Given the description of an element on the screen output the (x, y) to click on. 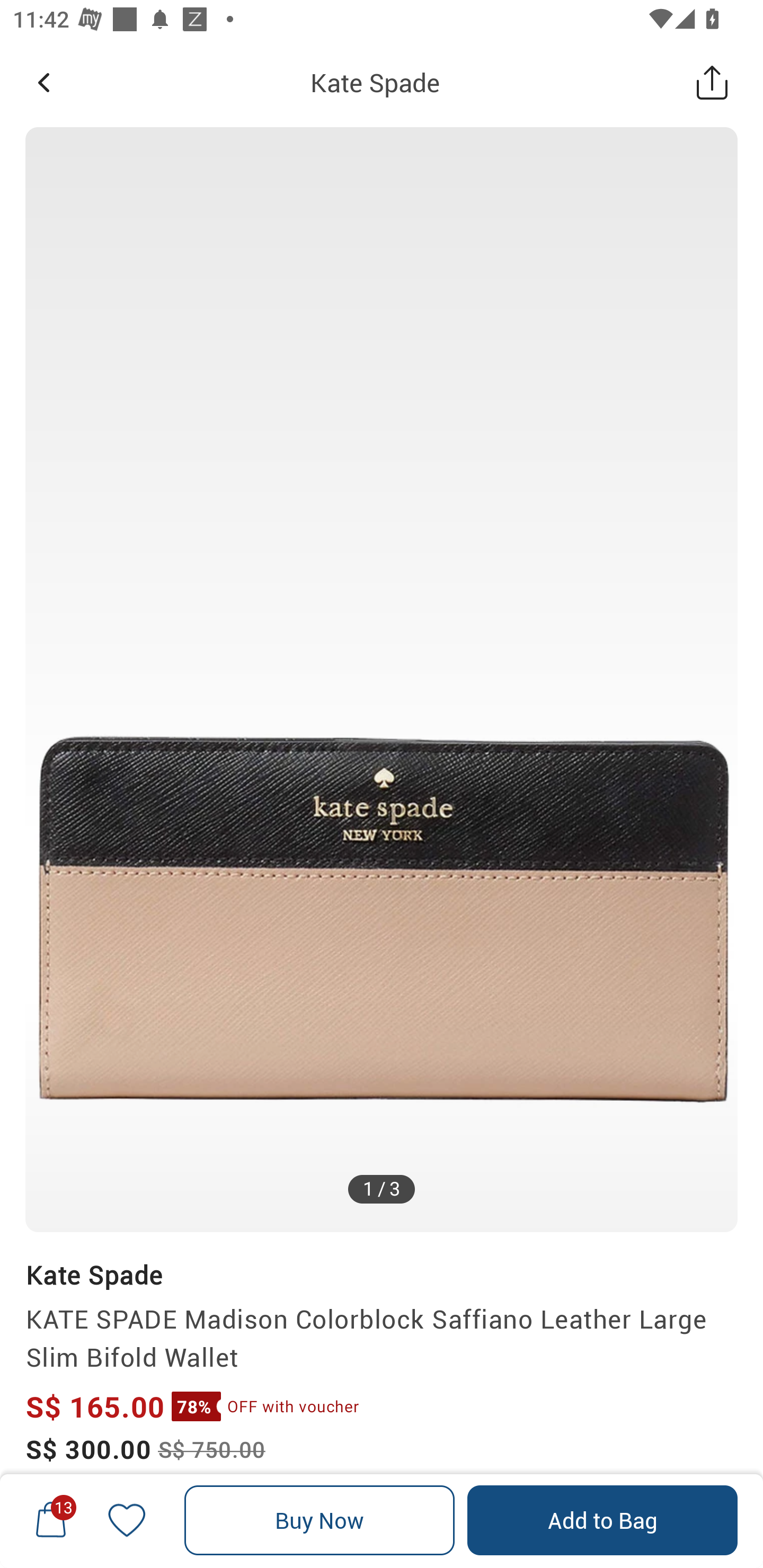
Kate Spade (375, 82)
Share this Product (711, 82)
Kate Spade (93, 1274)
Buy Now (319, 1519)
Add to Bag (601, 1519)
13 (50, 1520)
